Given the description of an element on the screen output the (x, y) to click on. 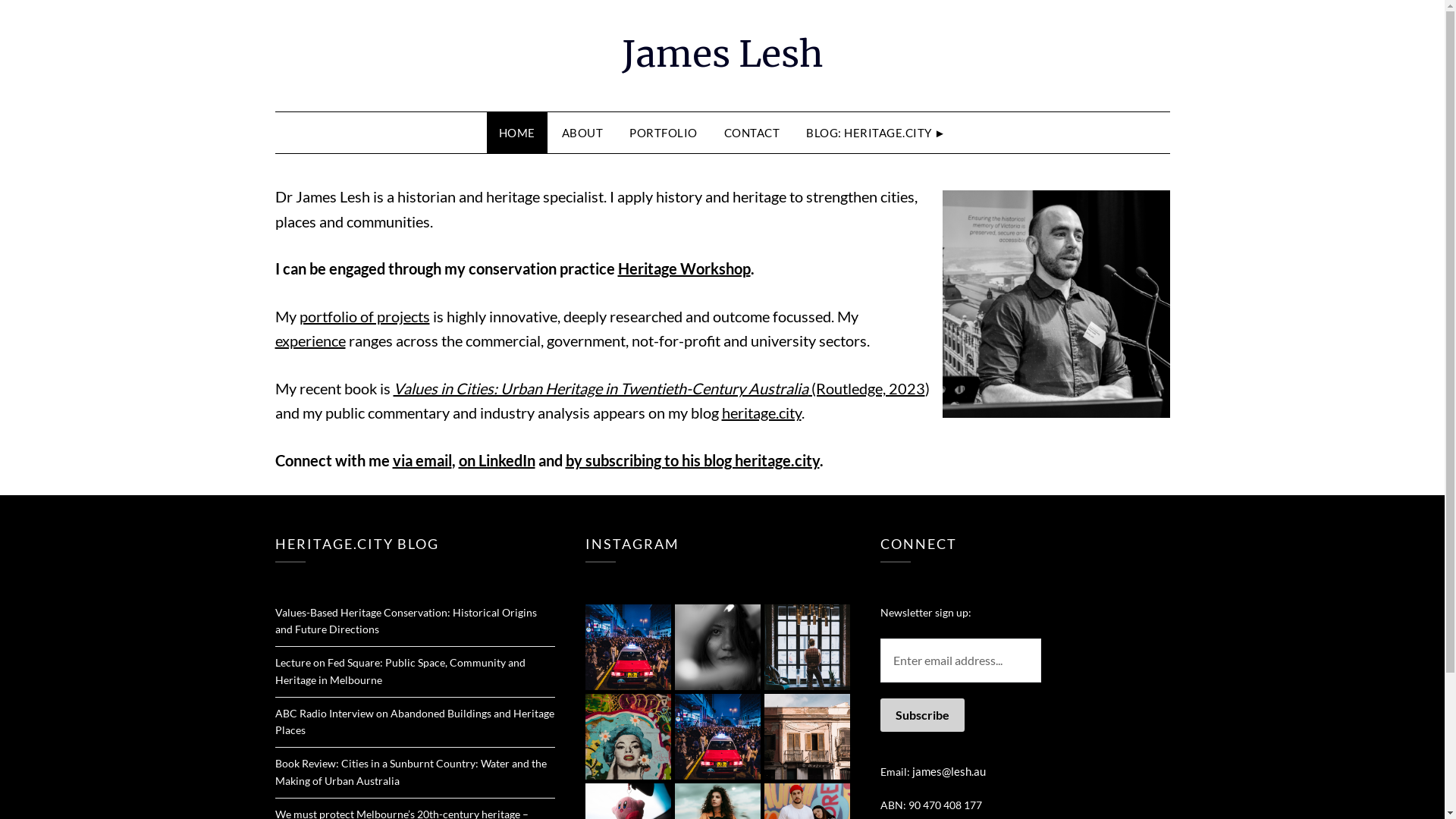
ABOUT Element type: text (582, 132)
Heritage Workshop Element type: text (683, 268)
James Lesh Element type: text (722, 53)
CONTACT Element type: text (752, 132)
on LinkedIn Element type: text (496, 460)
via email Element type: text (421, 460)
heritage.city Element type: text (761, 412)
PORTFOLIO Element type: text (663, 132)
Subscribe Element type: text (922, 714)
experience Element type: text (309, 340)
HOME Element type: text (516, 132)
by subscribing to his blog heritage.city Element type: text (692, 460)
portfolio of projects Element type: text (363, 316)
